Given the description of an element on the screen output the (x, y) to click on. 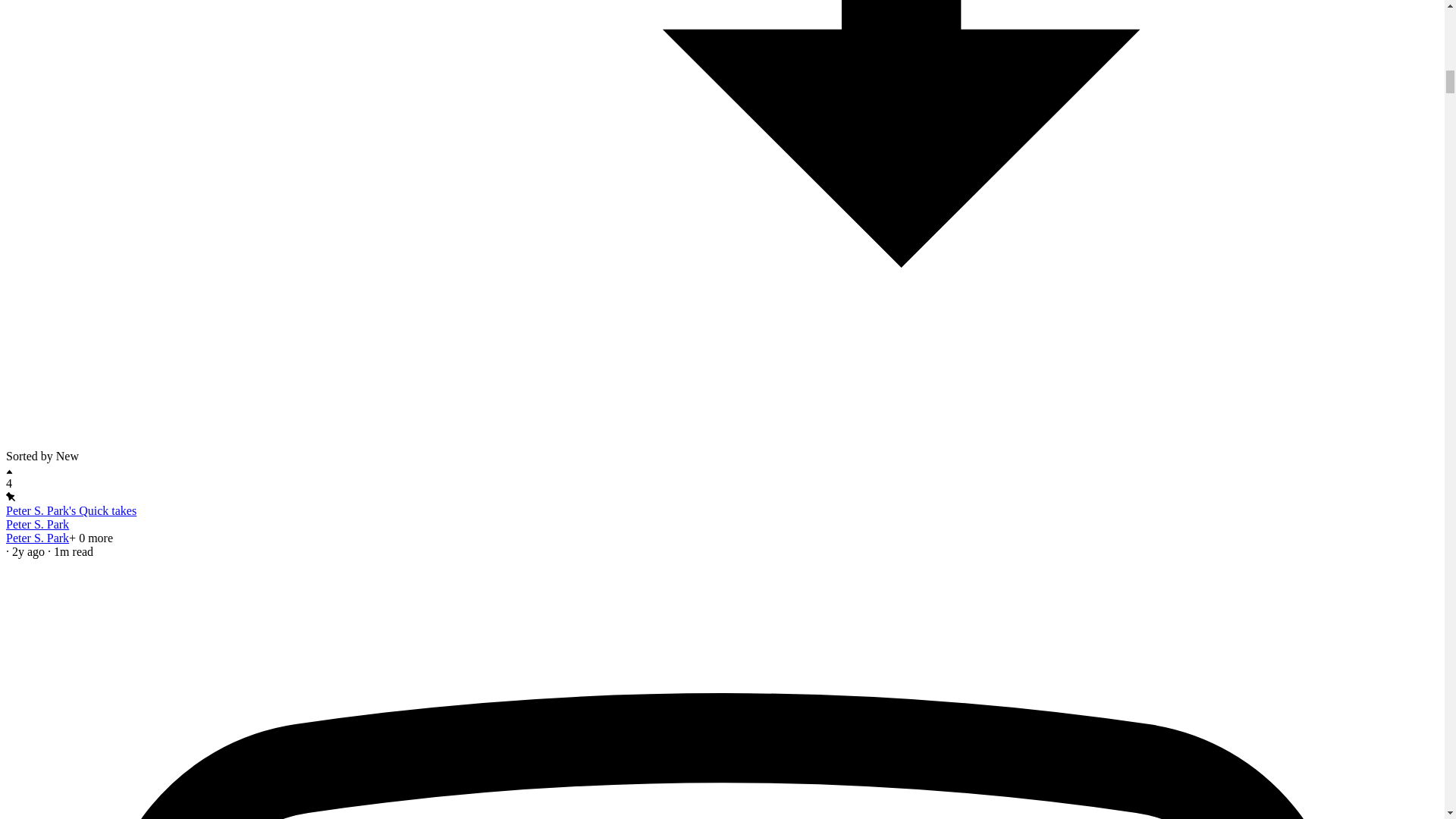
Peter S. Park (36, 537)
Peter S. Park's Quick takes (70, 510)
Peter S. Park (36, 523)
